Given the description of an element on the screen output the (x, y) to click on. 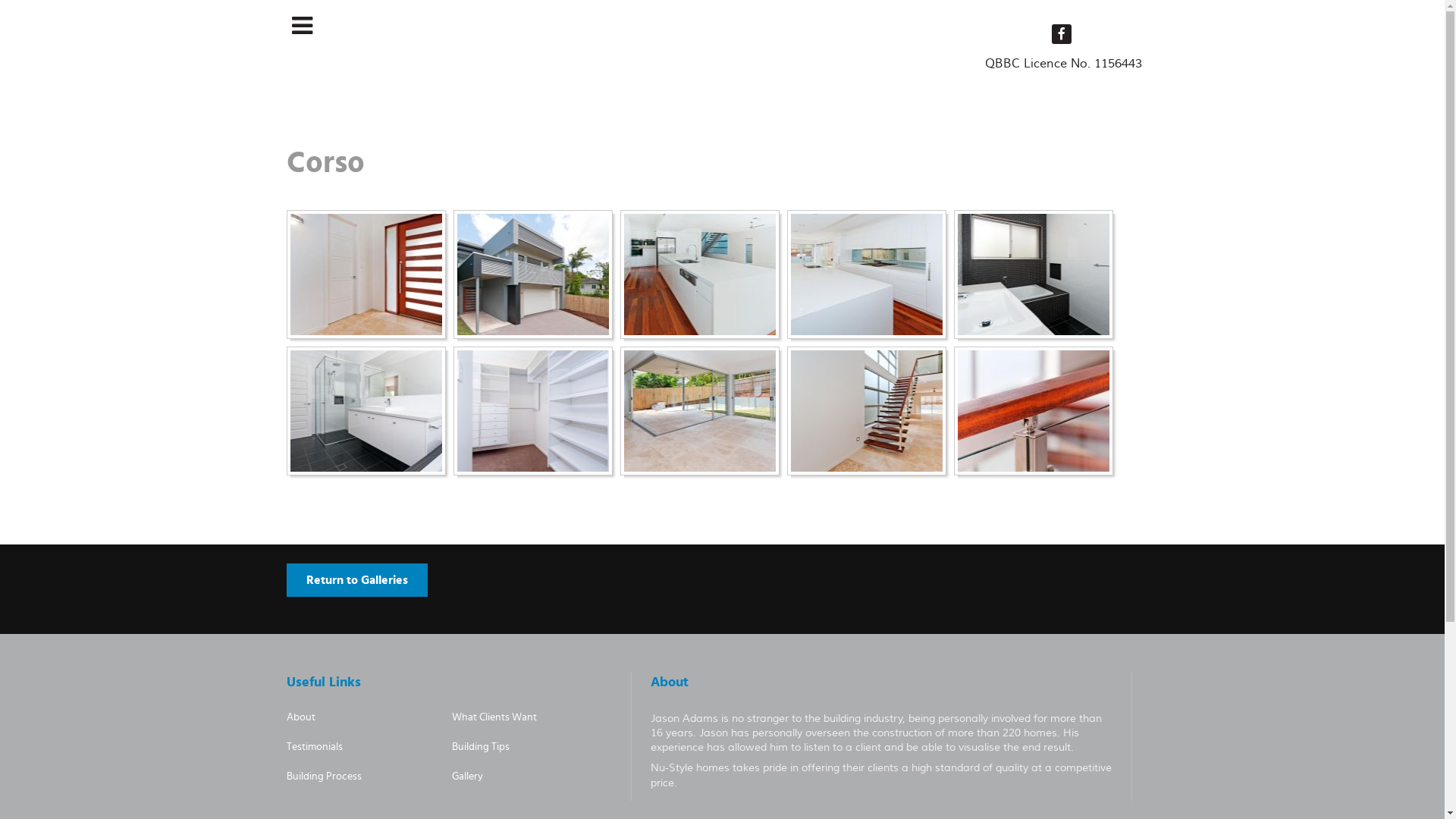
Return to Galleries Element type: text (356, 579)
Gallery Element type: text (467, 776)
Click to enlarge image Stairs.jpg Element type: hover (865, 410)
Building Process Element type: text (323, 776)
Testimonials Element type: text (314, 746)
Click to enlarge image Main bath2.jpg Element type: hover (365, 410)
What Clients Want Element type: text (493, 717)
Click to enlarge image Stacker.jpg Element type: hover (699, 410)
Click to enlarge image Kitchen2.jpg Element type: hover (865, 274)
Click to enlarge image Stairs2.jpg Element type: hover (1032, 410)
About Element type: text (300, 717)
Click to enlarge image Robe - Fit out.jpg Element type: hover (532, 410)
Click to enlarge image Doors.jpg Element type: hover (365, 274)
Click to enlarge image Main bath.jpg Element type: hover (1032, 274)
Click to enlarge image Kitchen.jpg Element type: hover (699, 274)
Click to enlarge image Front.jpg Element type: hover (532, 274)
Building Tips Element type: text (480, 746)
